Given the description of an element on the screen output the (x, y) to click on. 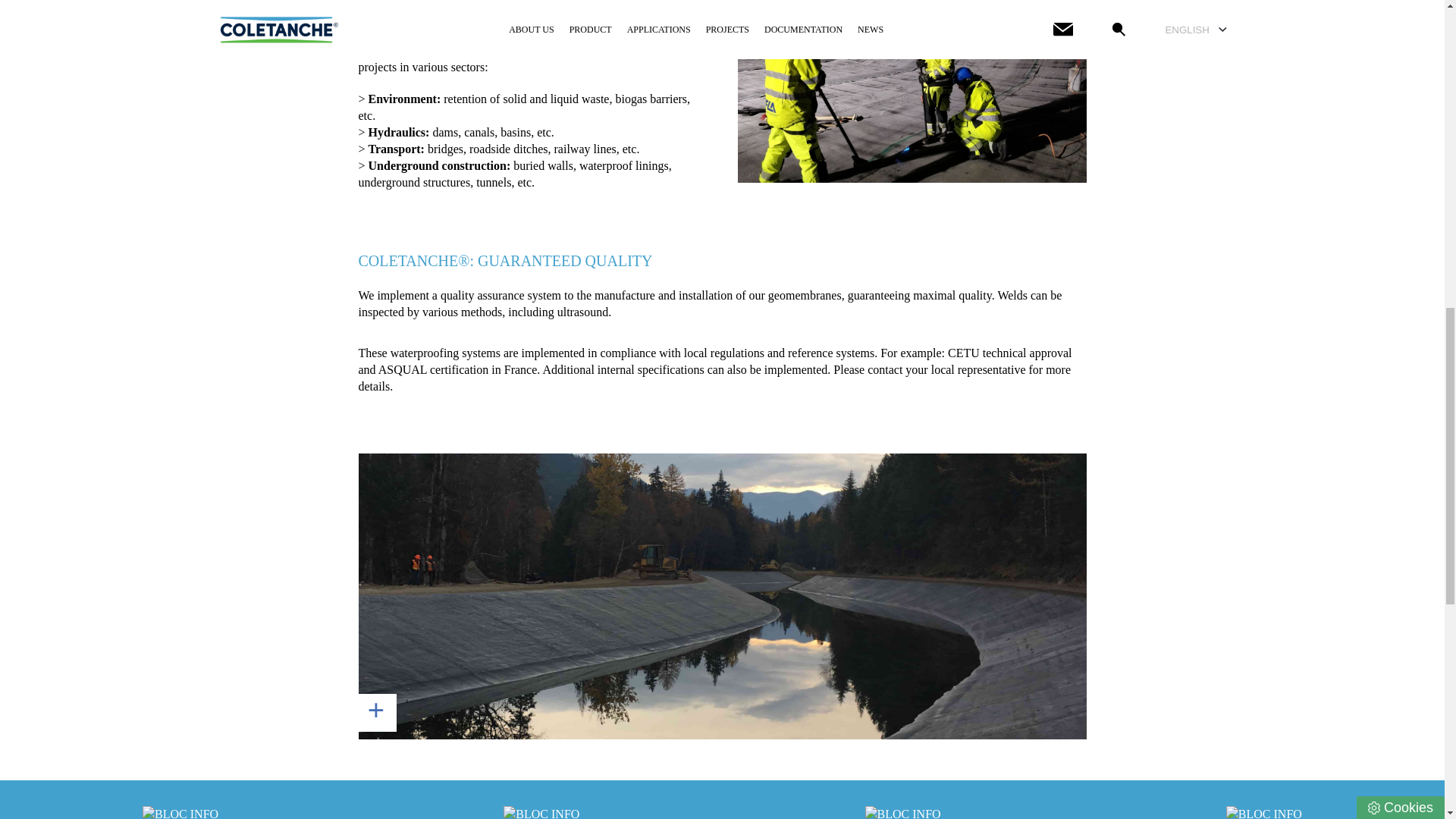
REFERENCES IN MORE THAN 70 COUNTRIES (541, 807)
WORLD IMPLANTATIONS (180, 807)
